Given the description of an element on the screen output the (x, y) to click on. 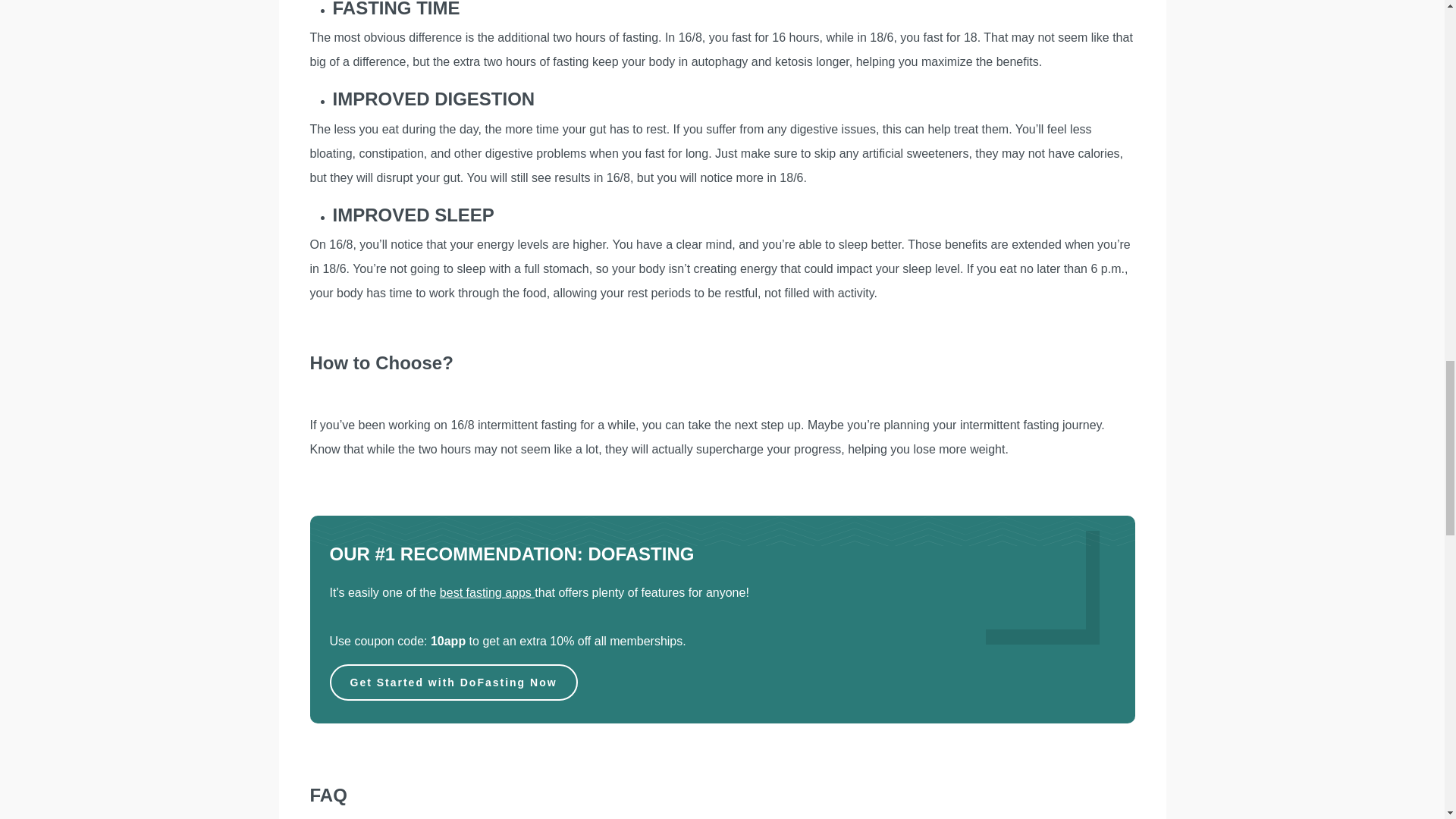
DoFasting App Review (991, 617)
DoFasting App Review (1029, 572)
